Given the description of an element on the screen output the (x, y) to click on. 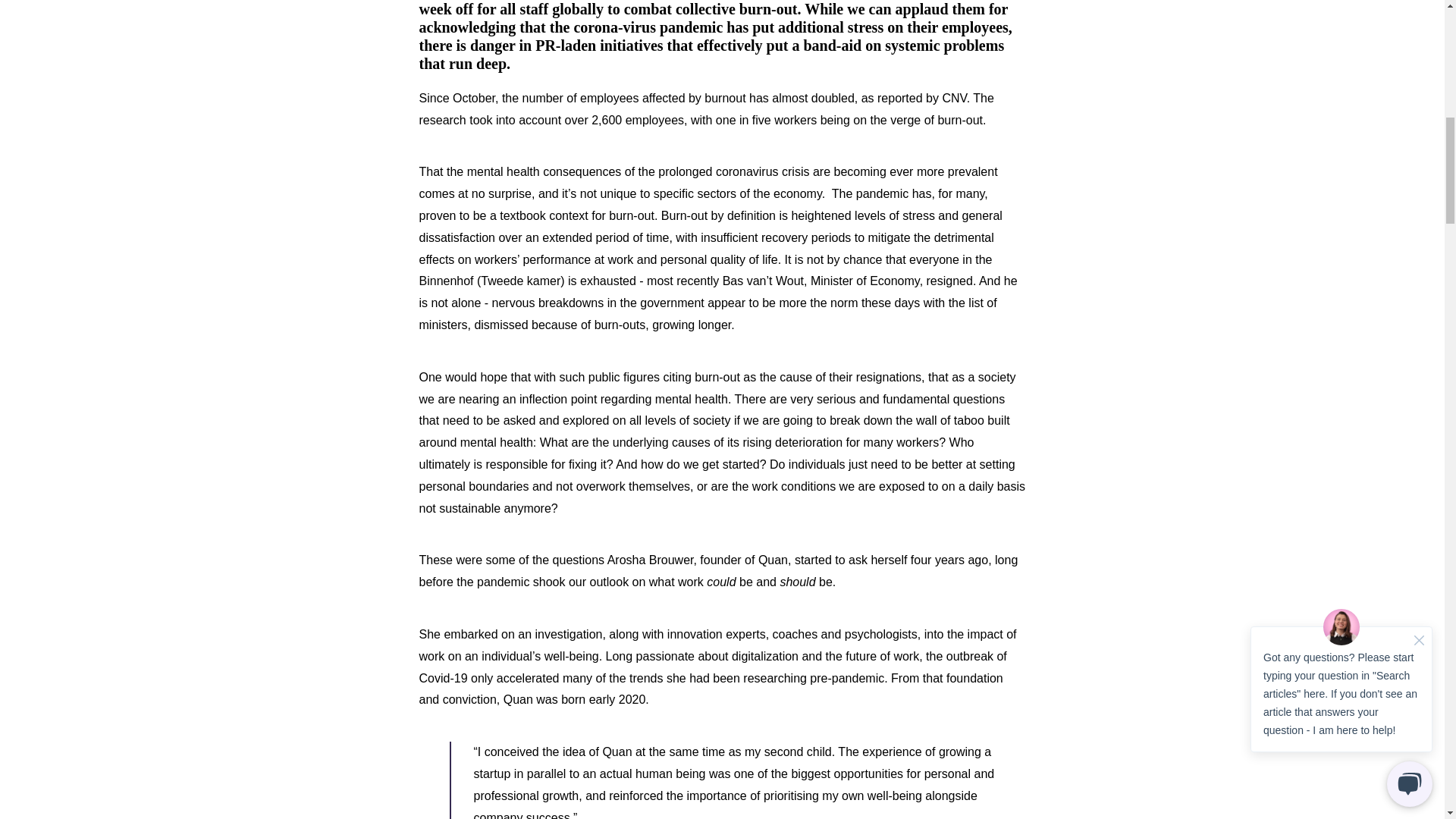
reported by CNV (921, 97)
Quan (772, 559)
